Given the description of an element on the screen output the (x, y) to click on. 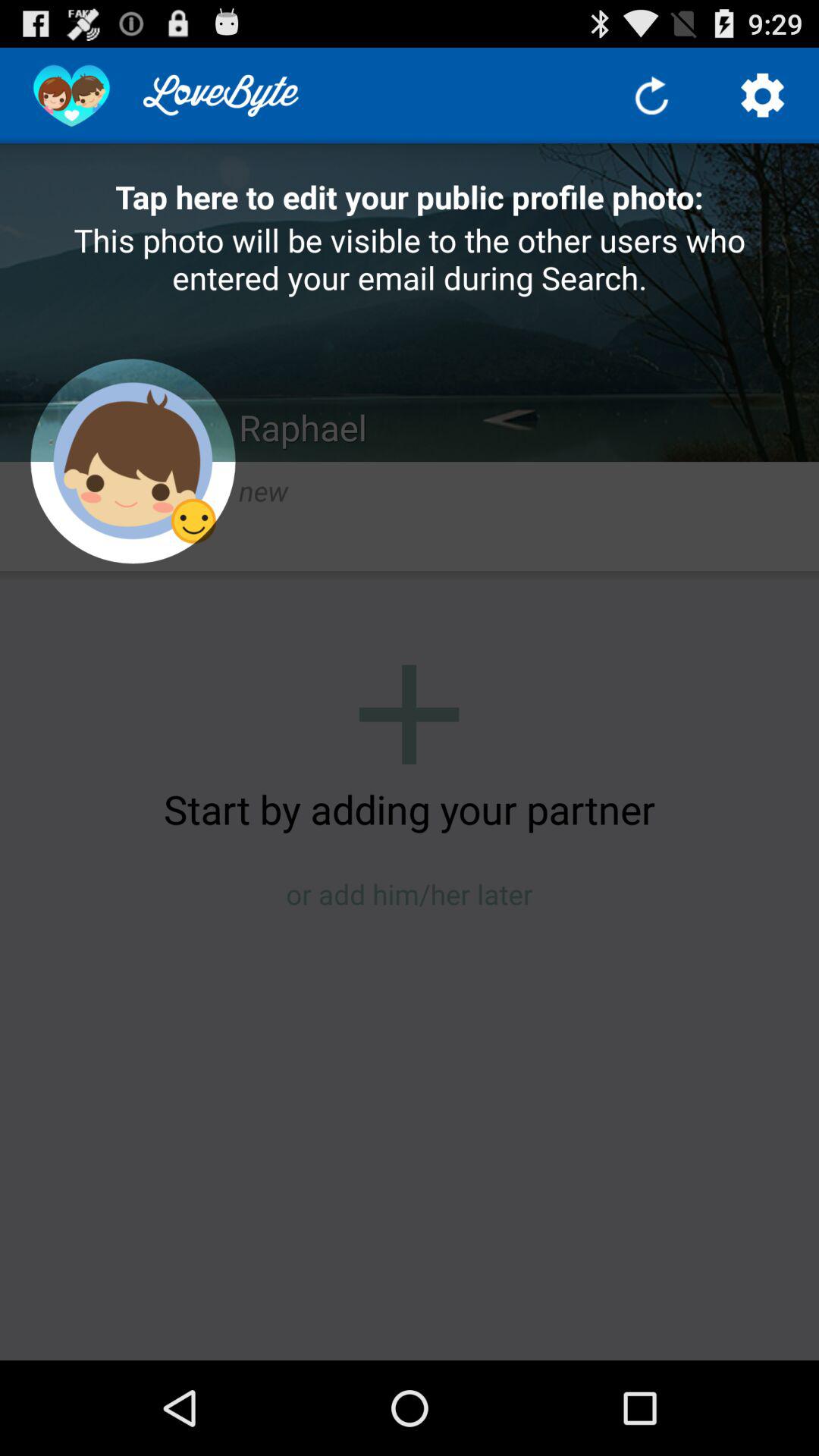
edit profile photo (132, 460)
